Given the description of an element on the screen output the (x, y) to click on. 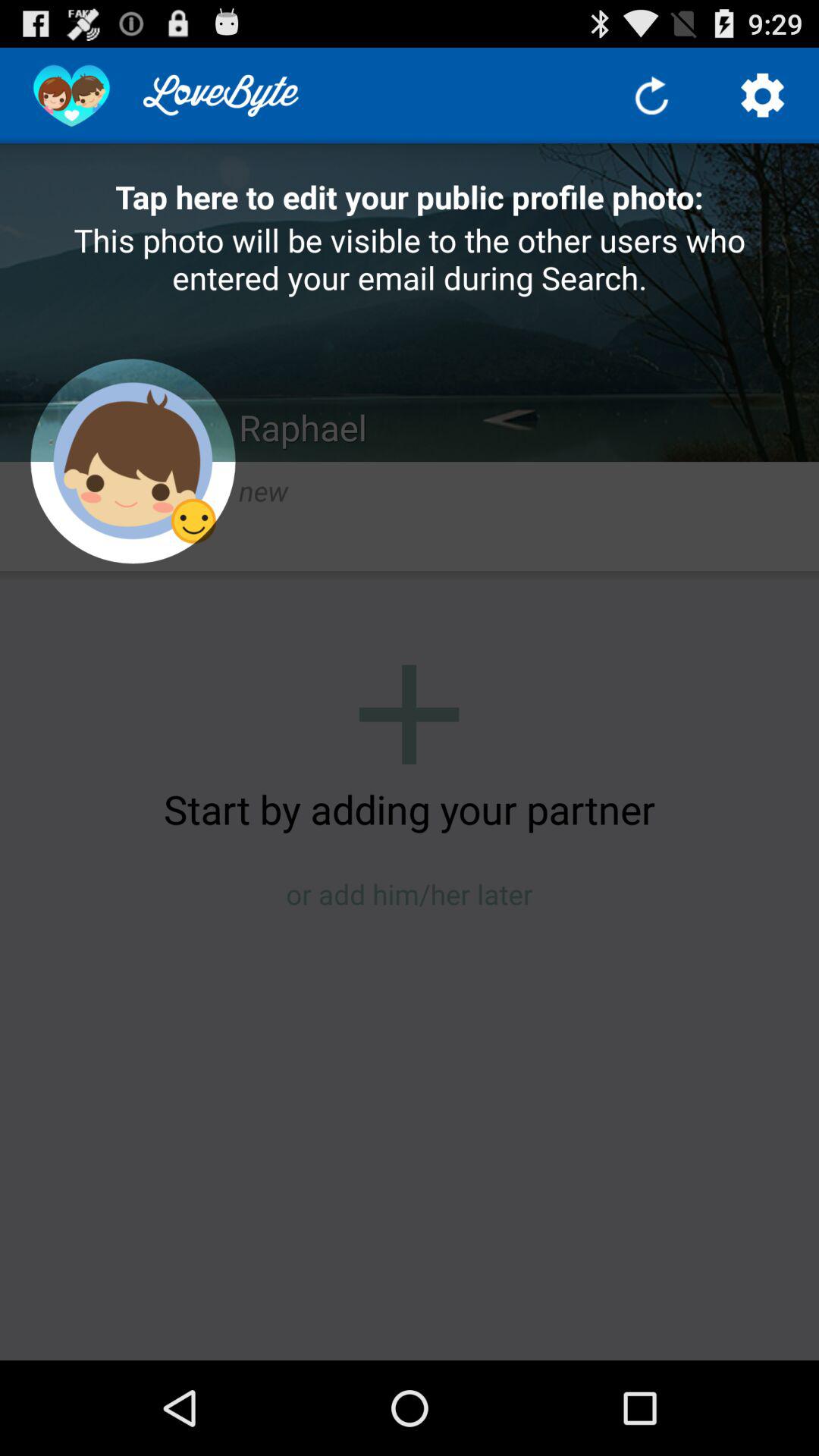
edit profile photo (132, 460)
